Given the description of an element on the screen output the (x, y) to click on. 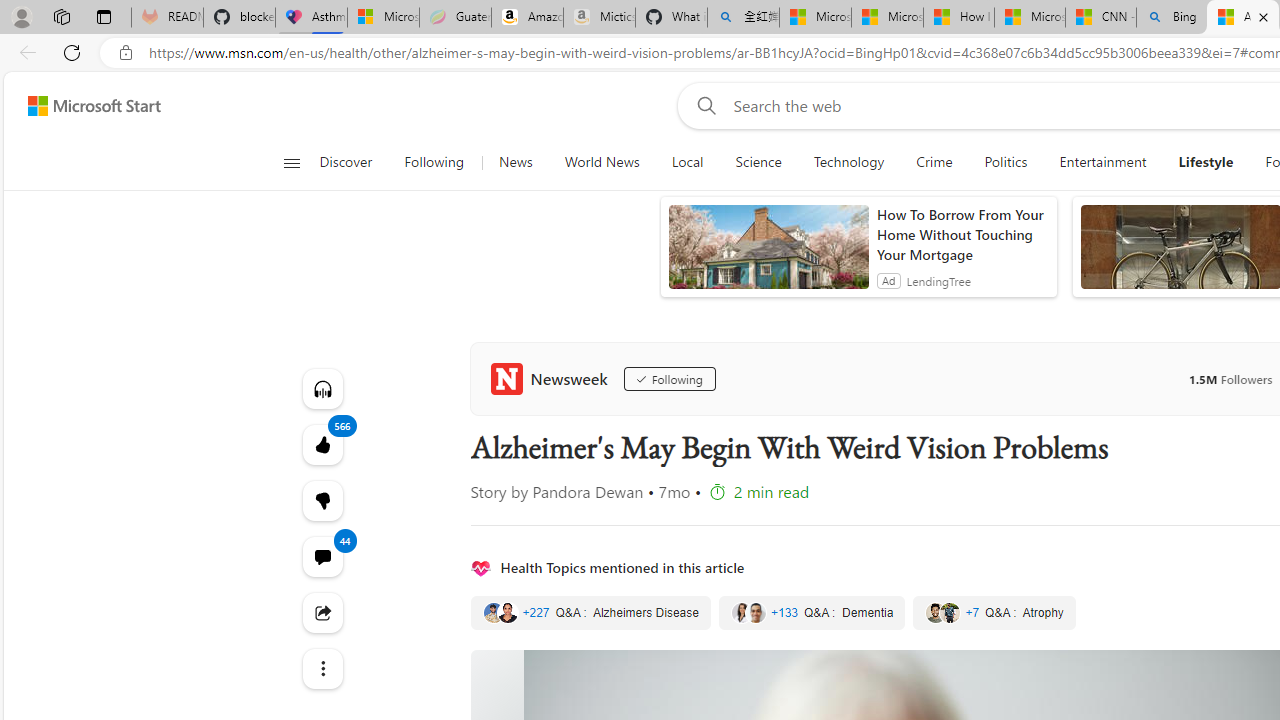
Lifestyle (1205, 162)
Class: button-glyph (290, 162)
Web search (702, 105)
Discover (345, 162)
Refresh (72, 52)
Personal Profile (21, 16)
Bing (1171, 17)
Local (687, 162)
How To Borrow From Your Home Without Touching Your Mortgage (962, 234)
Skip to footer (82, 105)
Share this story (322, 612)
Lifestyle (1206, 162)
Following (434, 162)
